Given the description of an element on the screen output the (x, y) to click on. 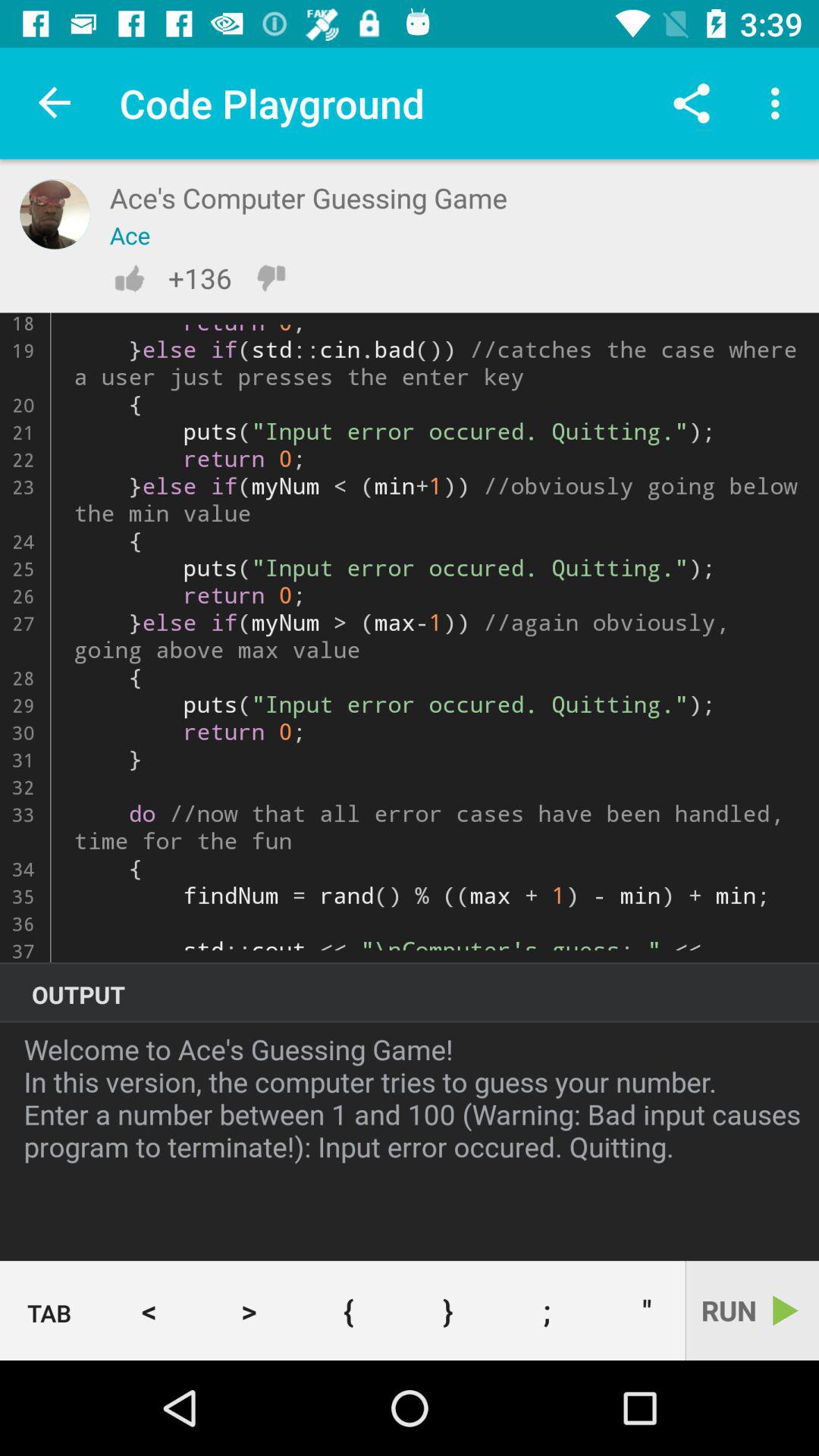
click the item to the right of } (547, 1310)
